Given the description of an element on the screen output the (x, y) to click on. 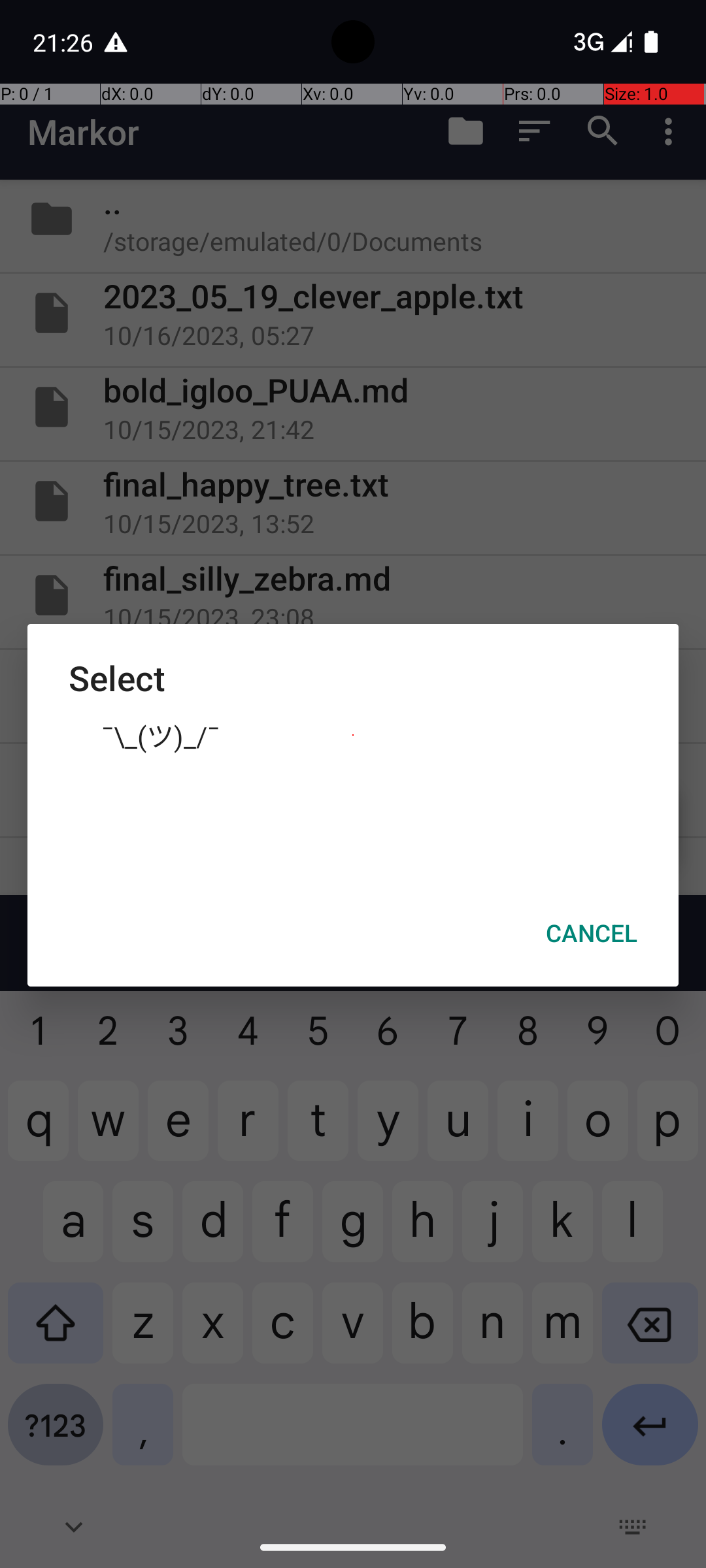
Select Element type: android.widget.TextView (352, 677)
     ¯\_(ツ)_/¯      Element type: android.widget.TextView (352, 734)
21:26 Element type: android.widget.TextView (64, 41)
